Given the description of an element on the screen output the (x, y) to click on. 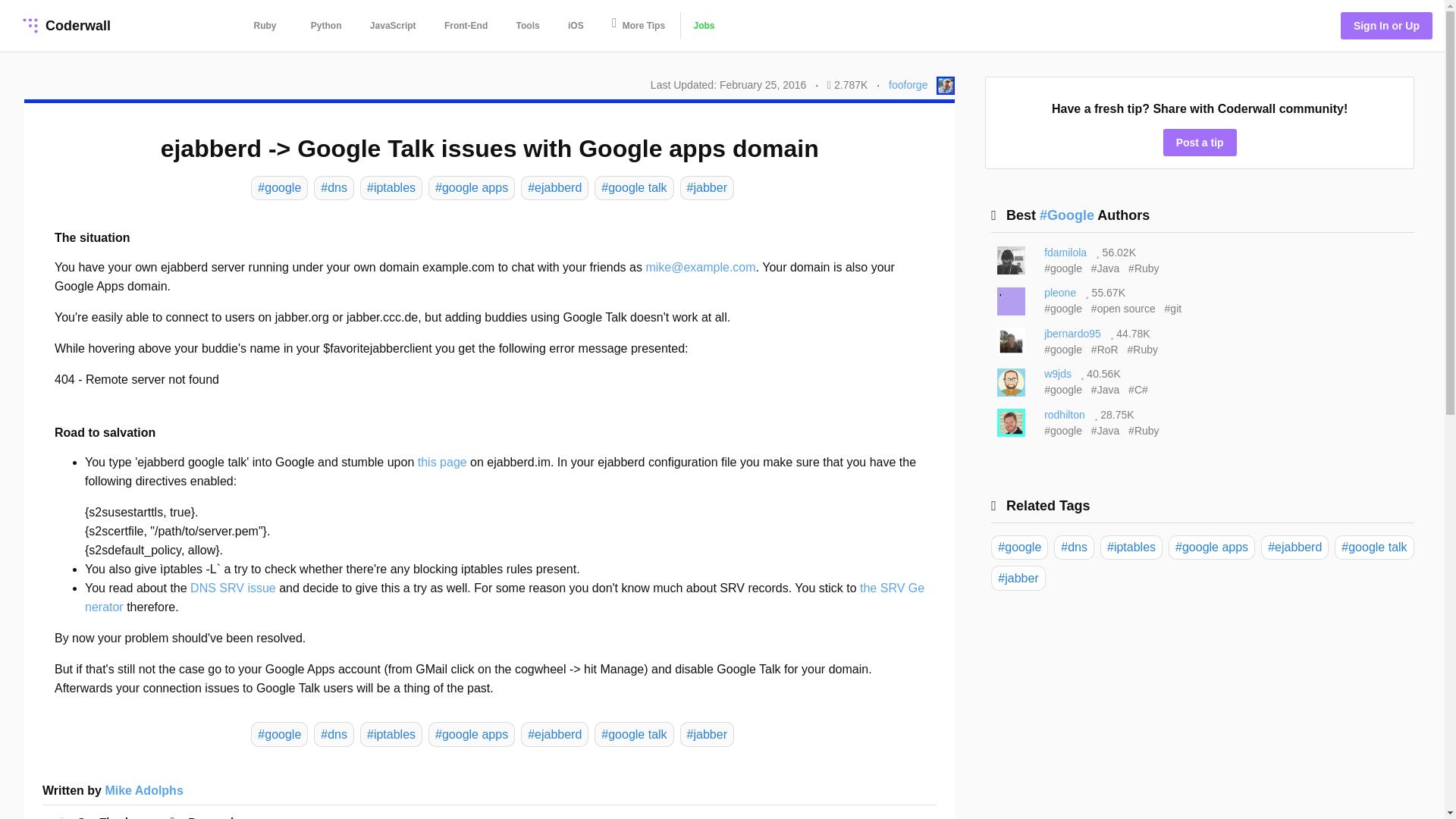
Jobs (702, 25)
the SRV Generator (504, 597)
JavaScript (392, 25)
Mike Adolphs (143, 789)
Python (326, 25)
Coderwall (64, 25)
this page (442, 461)
Sign In or Up (1386, 25)
Tools (528, 25)
iOS (575, 25)
Front-End (465, 25)
fooforge (907, 84)
Ruby (265, 25)
DNS SRV issue (233, 587)
